Given the description of an element on the screen output the (x, y) to click on. 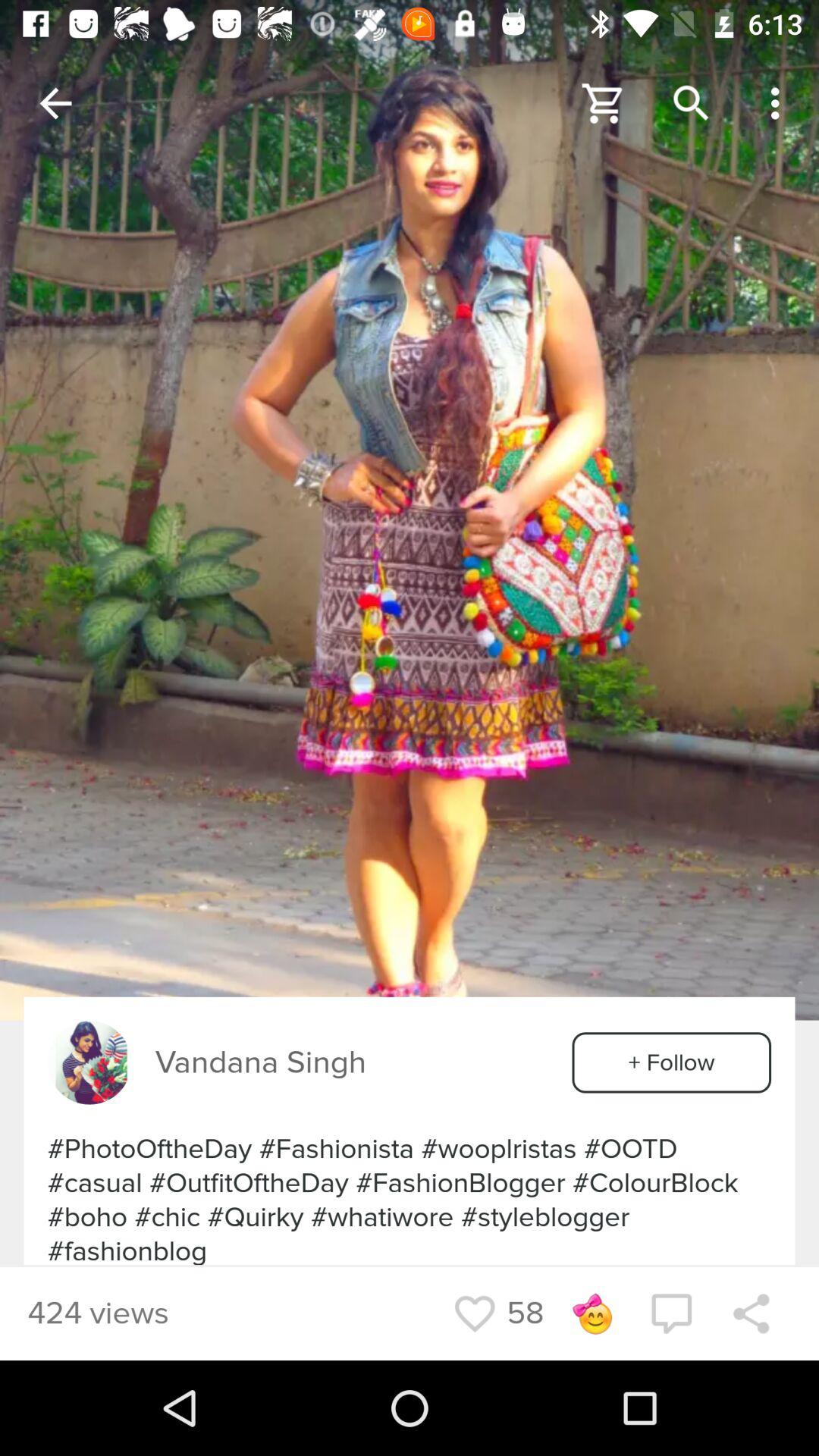
open profile picture (89, 1062)
